Given the description of an element on the screen output the (x, y) to click on. 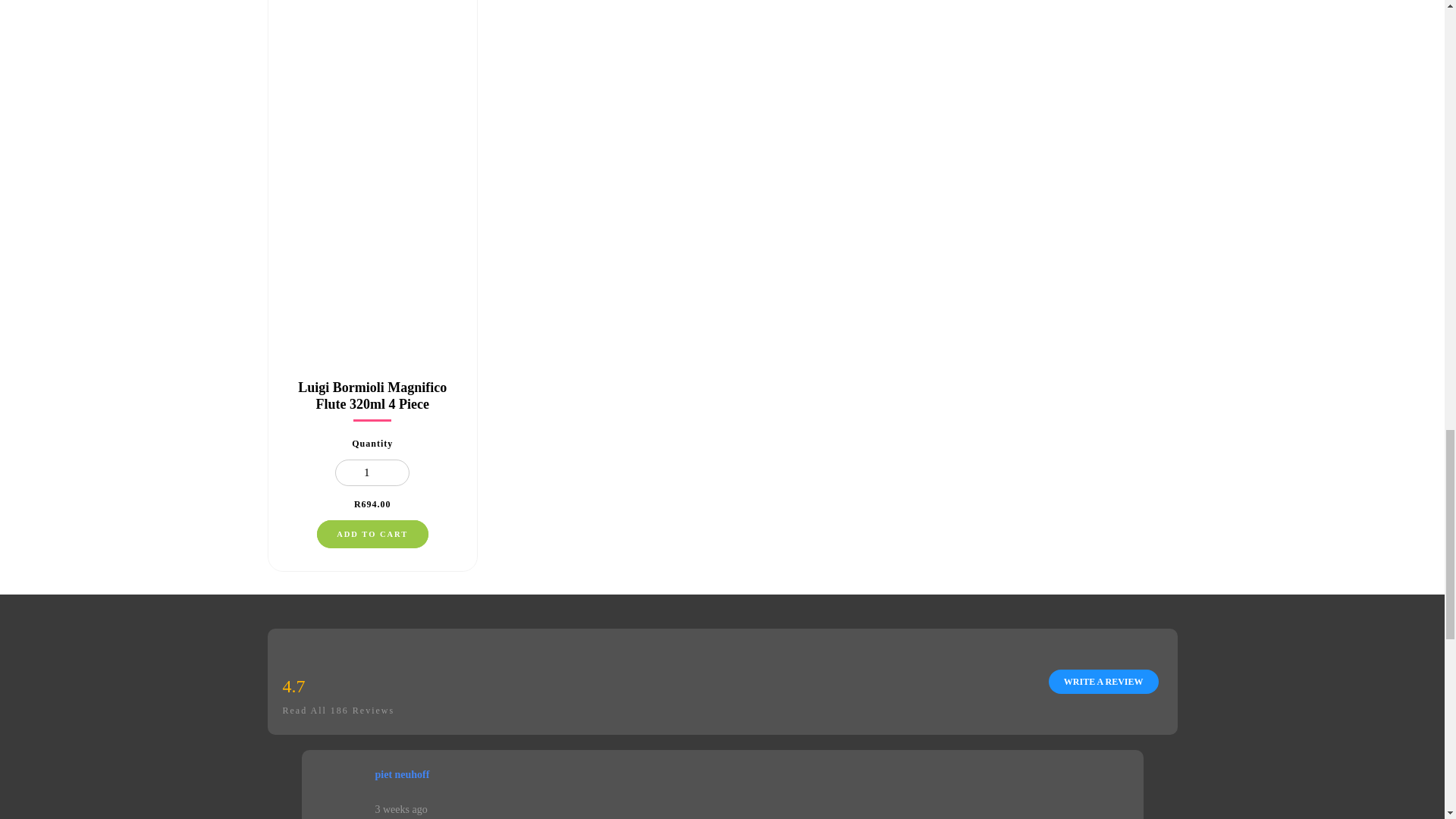
1 (371, 472)
